Given the description of an element on the screen output the (x, y) to click on. 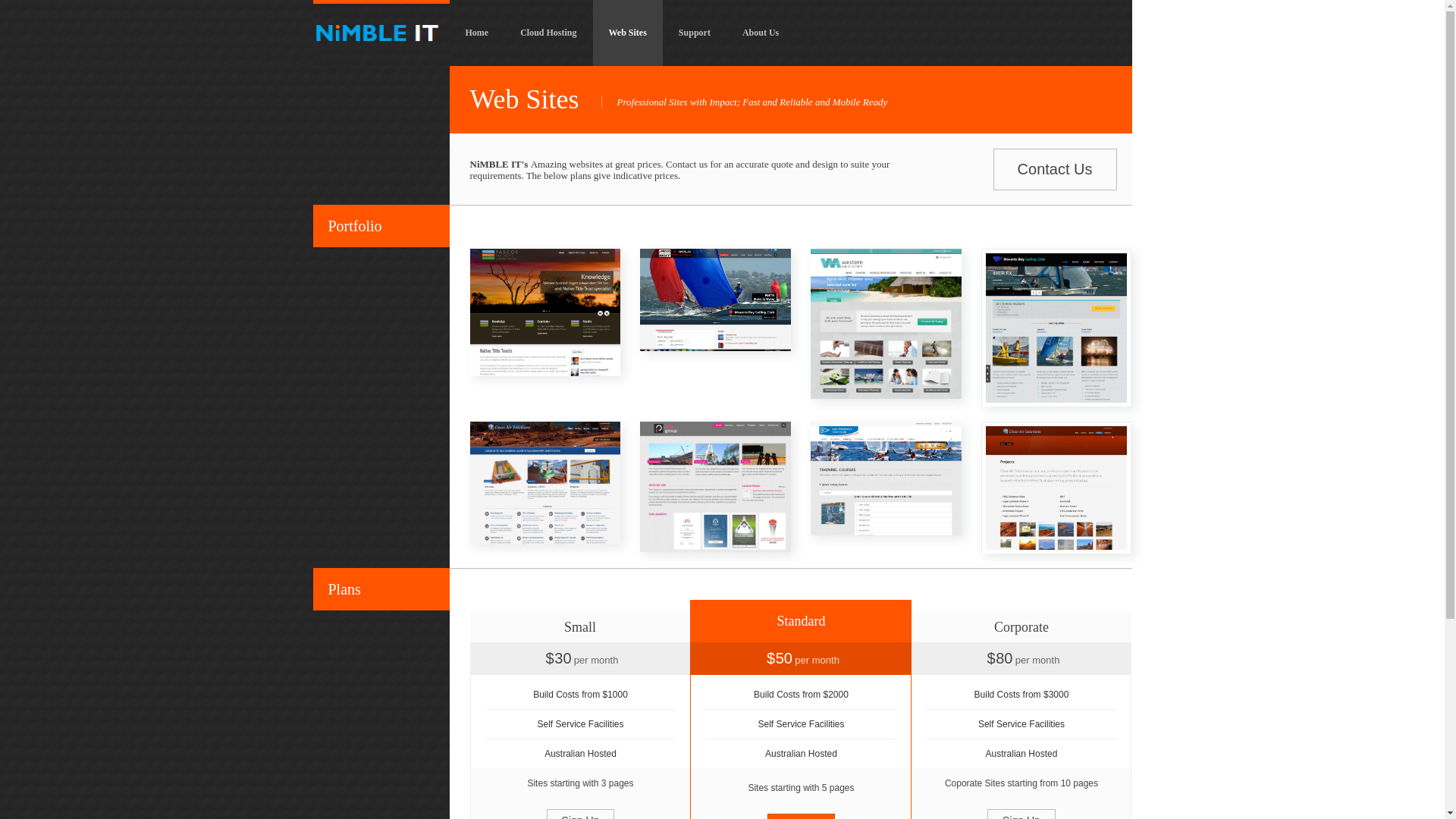
Nimble IT Element type: hover (380, 32)
Contact Us Element type: text (1055, 169)
